Given the description of an element on the screen output the (x, y) to click on. 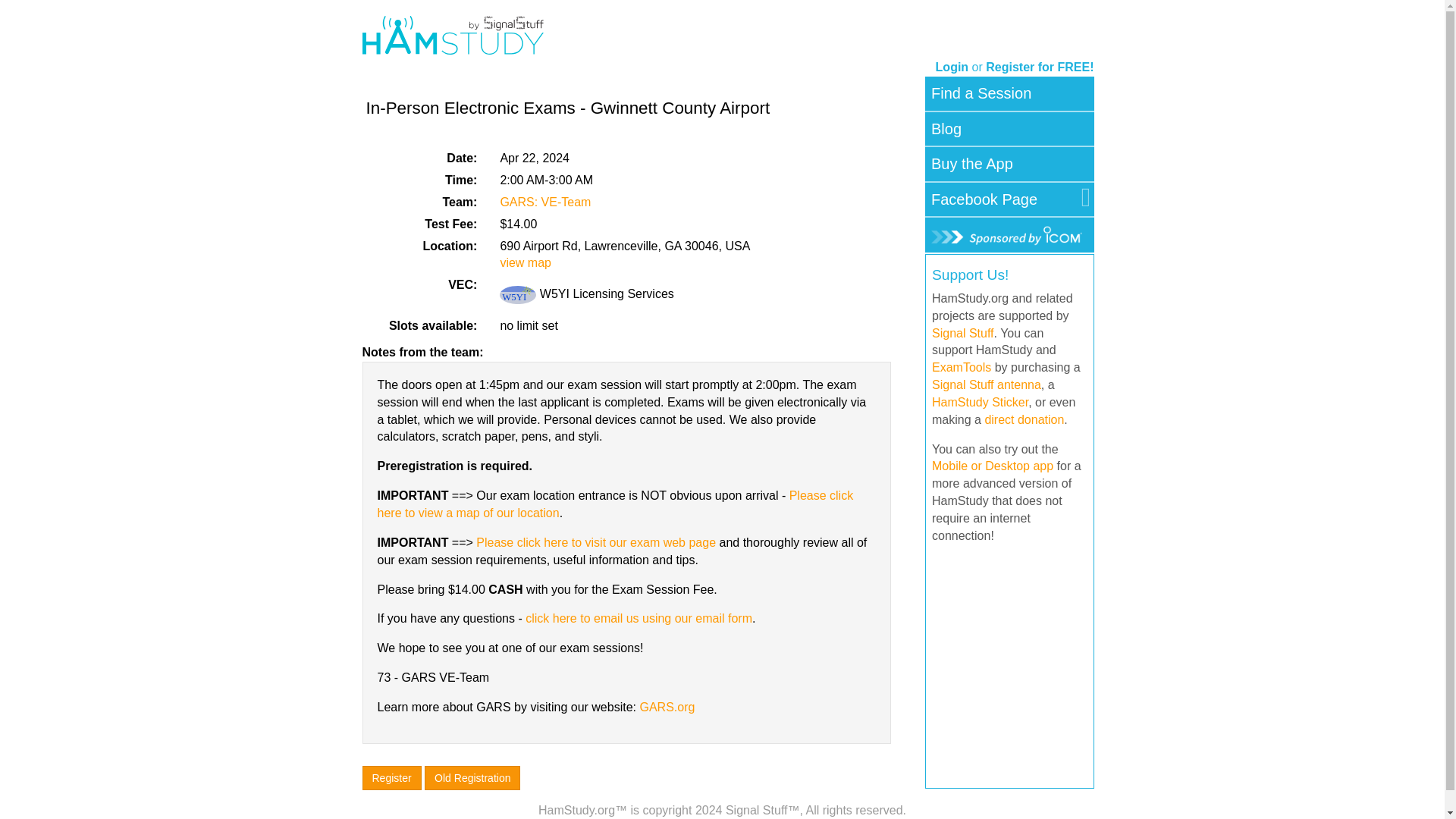
Please click here to visit our exam web page (596, 542)
Old Registration (472, 778)
GARS.org (666, 707)
GARS: VE-Team (545, 201)
direct donation (1024, 419)
click here to email us using our email form (638, 617)
Find a Session (980, 93)
Buy the App (971, 163)
Blog (946, 129)
Mobile or Desktop app (991, 465)
